Given the description of an element on the screen output the (x, y) to click on. 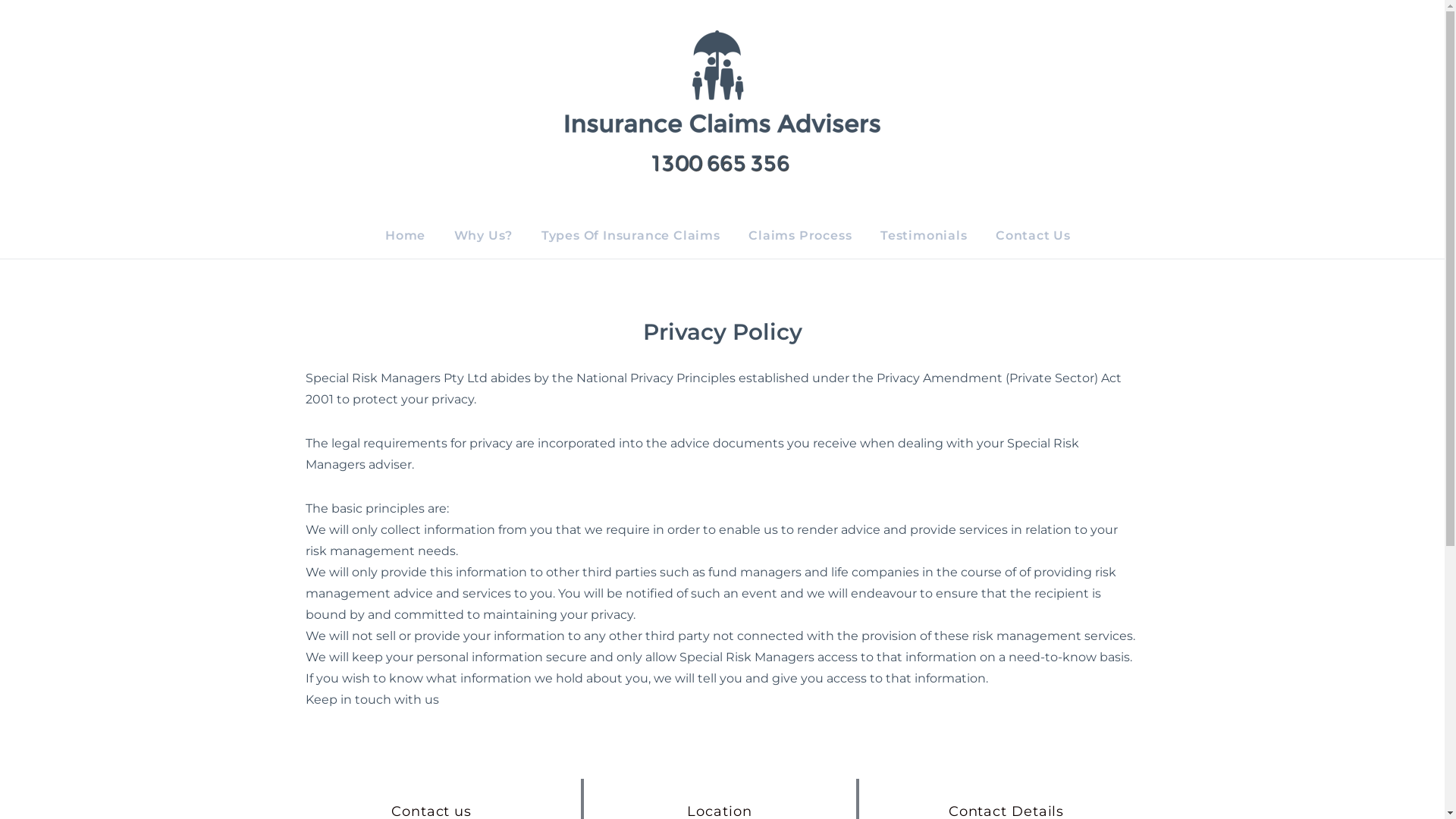
Why Us? Element type: text (486, 235)
Testimonials Element type: text (926, 235)
Types Of Insurance Claims Element type: text (633, 235)
Contact Us Element type: text (1027, 235)
Home Element type: text (407, 235)
Claims Process Element type: text (803, 235)
